Given the description of an element on the screen output the (x, y) to click on. 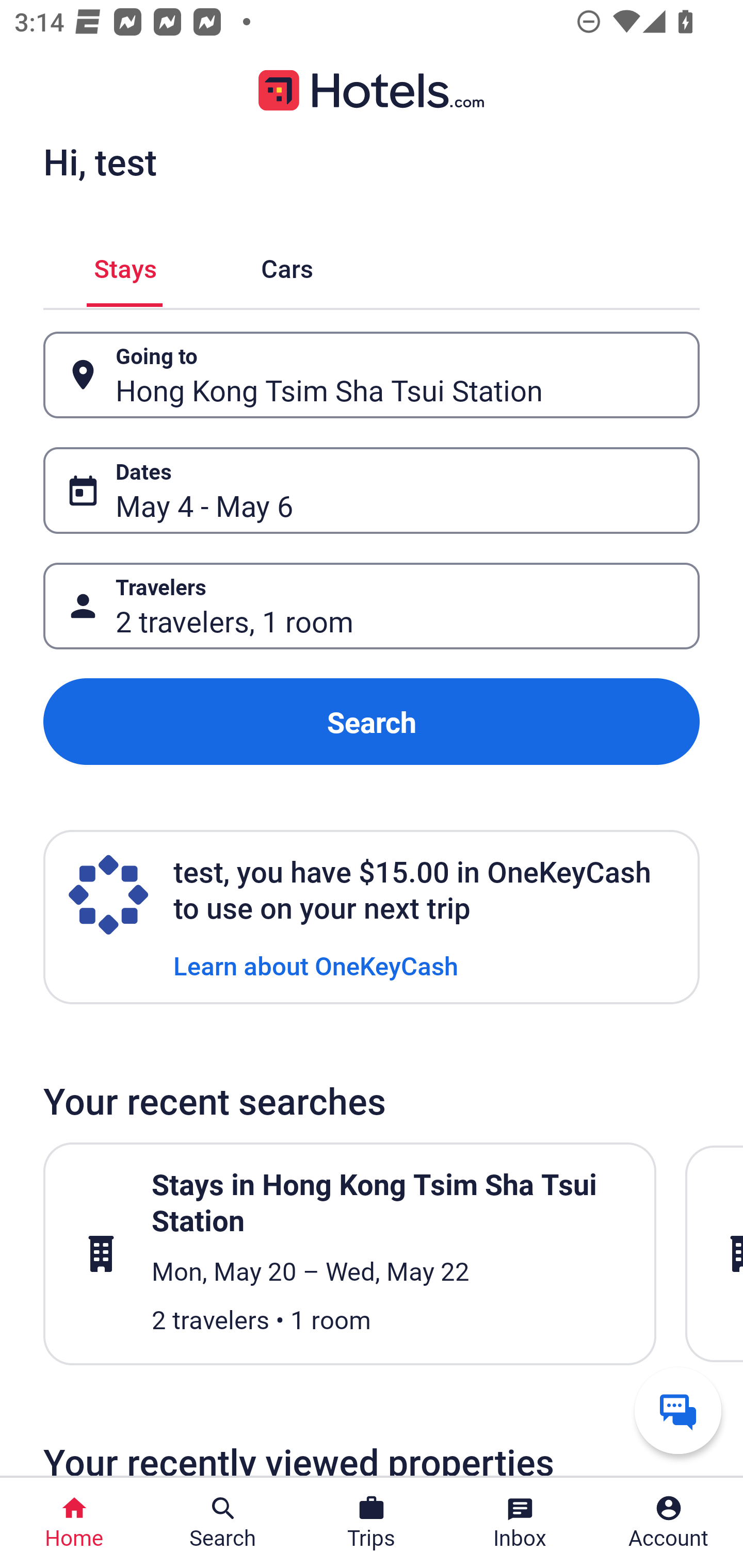
Hi, test (99, 161)
Cars (286, 265)
Going to Button Hong Kong Tsim Sha Tsui Station (371, 375)
Dates Button May 4 - May 6 (371, 489)
Travelers Button 2 travelers, 1 room (371, 605)
Search (371, 721)
Learn about OneKeyCash Learn about OneKeyCash Link (315, 964)
Get help from a virtual agent (677, 1410)
Search Search Button (222, 1522)
Trips Trips Button (371, 1522)
Inbox Inbox Button (519, 1522)
Account Profile. Button (668, 1522)
